Given the description of an element on the screen output the (x, y) to click on. 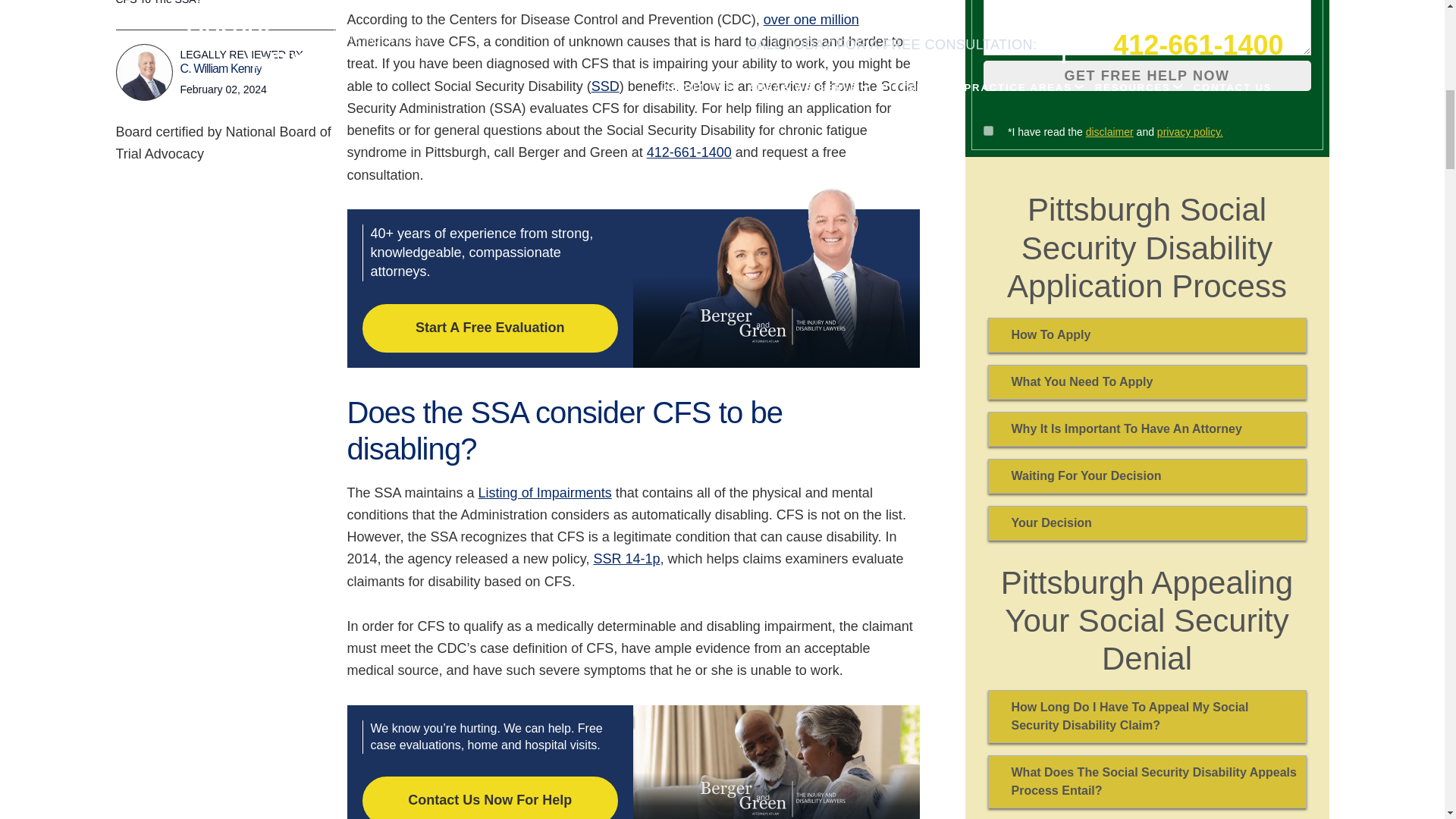
How Do I Prove My Disability Claim Based On CFS To The SSA? (224, 2)
C. William Kenny (143, 72)
1 (987, 130)
